Given the description of an element on the screen output the (x, y) to click on. 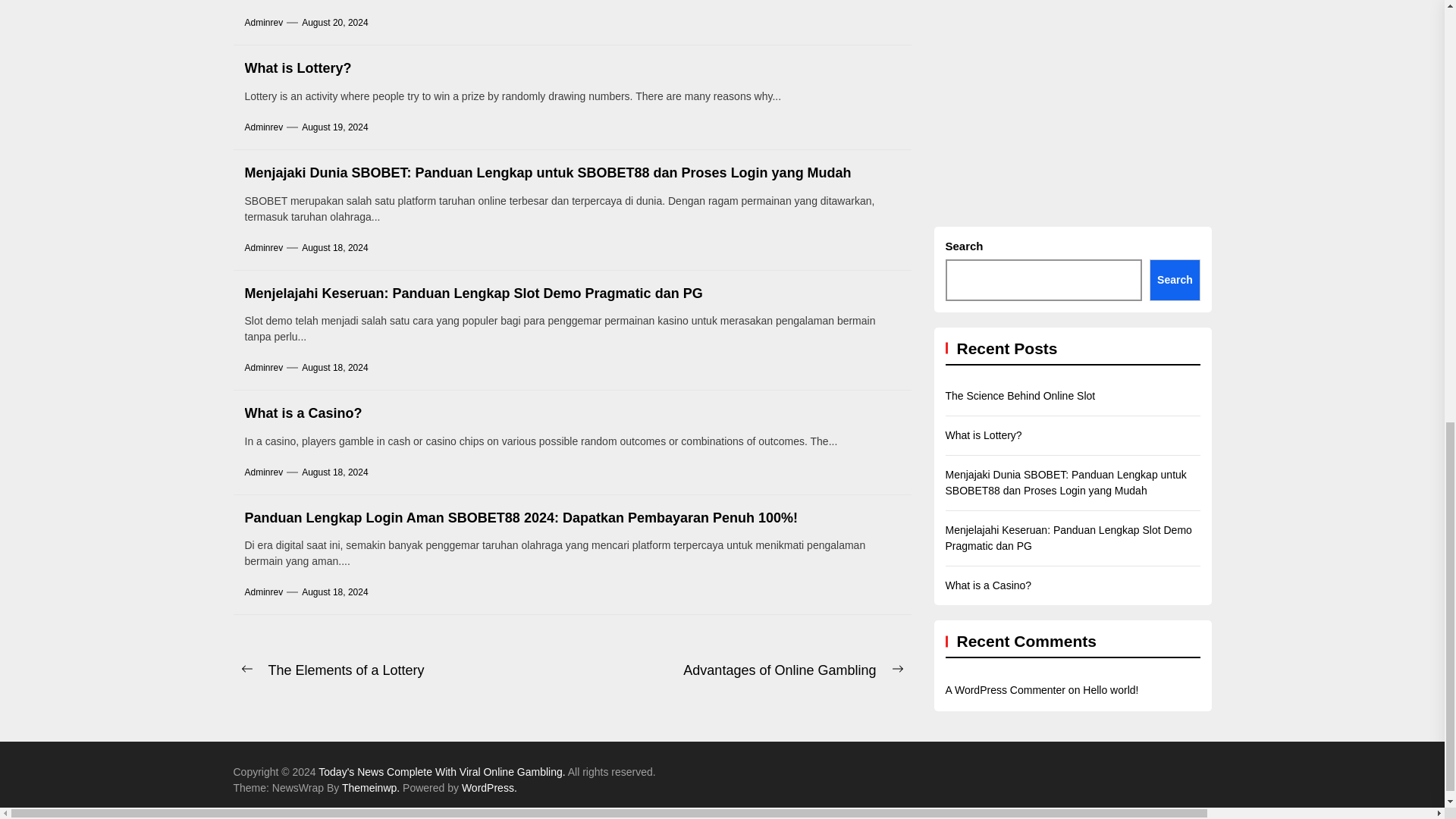
October 2022 (1439, 93)
November 2022 (1439, 53)
Today's News Complete With Viral Online Gambling (442, 771)
July 2022 (1439, 132)
December 2022 (1439, 14)
